Given the description of an element on the screen output the (x, y) to click on. 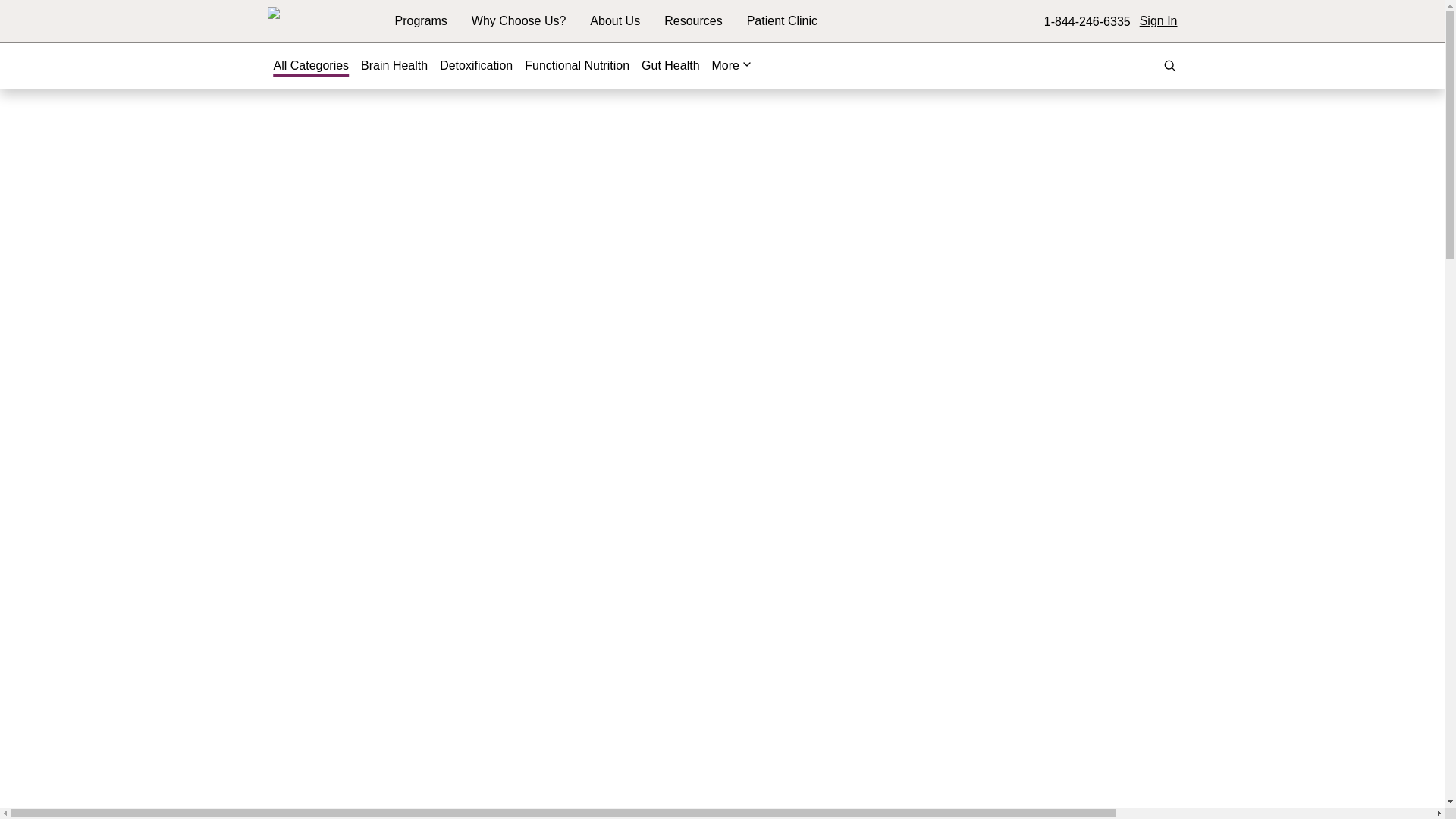
All Categories (311, 65)
Why Choose Us? (518, 21)
1-844-246-6335 (1087, 21)
Brain Health (394, 65)
Resources (692, 21)
Gut Health (670, 65)
Sign In (1158, 21)
About Us (614, 21)
Programs (420, 21)
Functional Nutrition (576, 65)
Detoxification (475, 65)
Patient Clinic (781, 20)
